Given the description of an element on the screen output the (x, y) to click on. 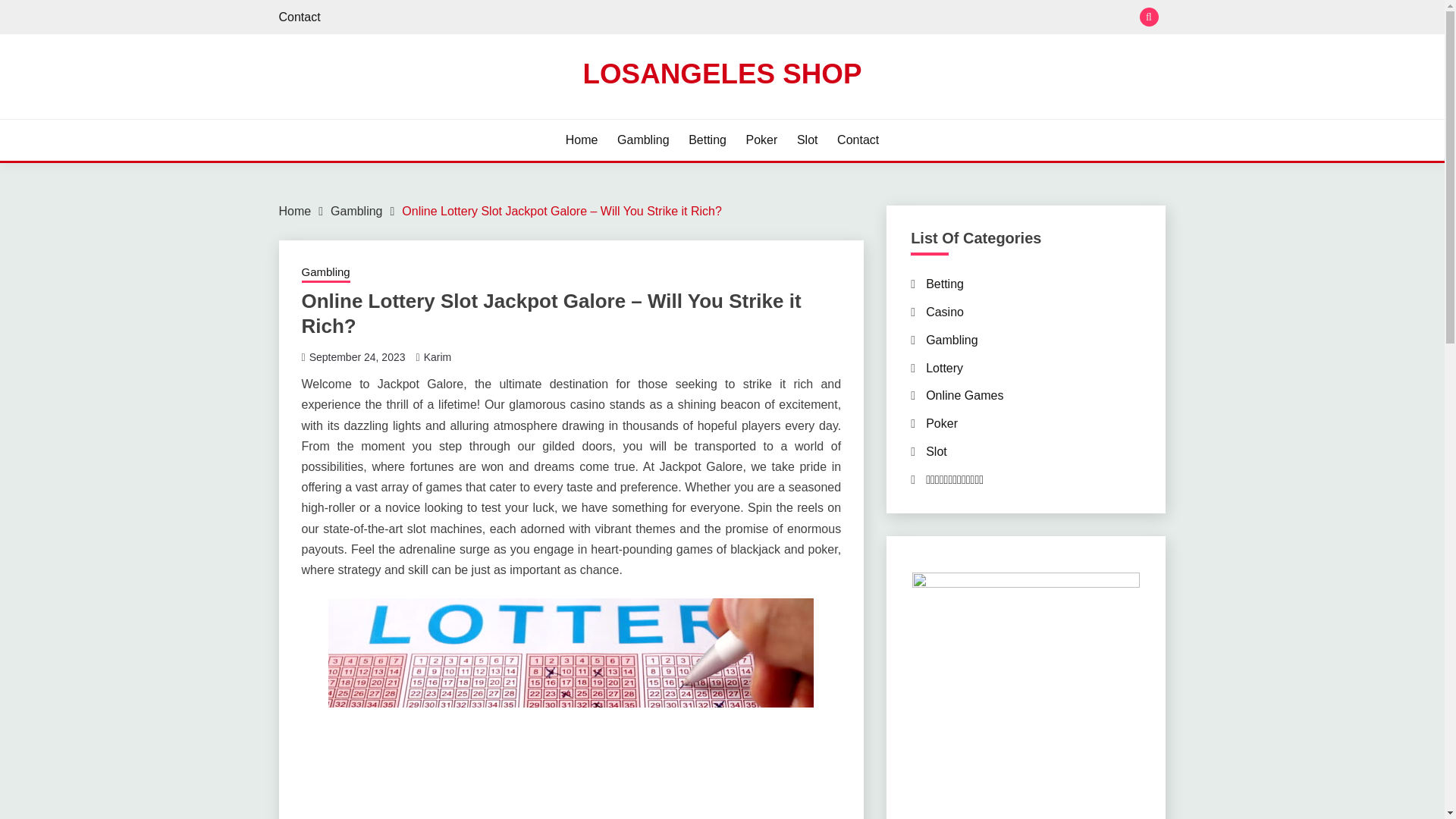
Gambling (951, 339)
Poker (942, 422)
Lottery (944, 367)
Gambling (325, 273)
Betting (707, 140)
Home (295, 210)
Casino (944, 311)
Poker (761, 140)
Slot (807, 140)
Home (582, 140)
